Given the description of an element on the screen output the (x, y) to click on. 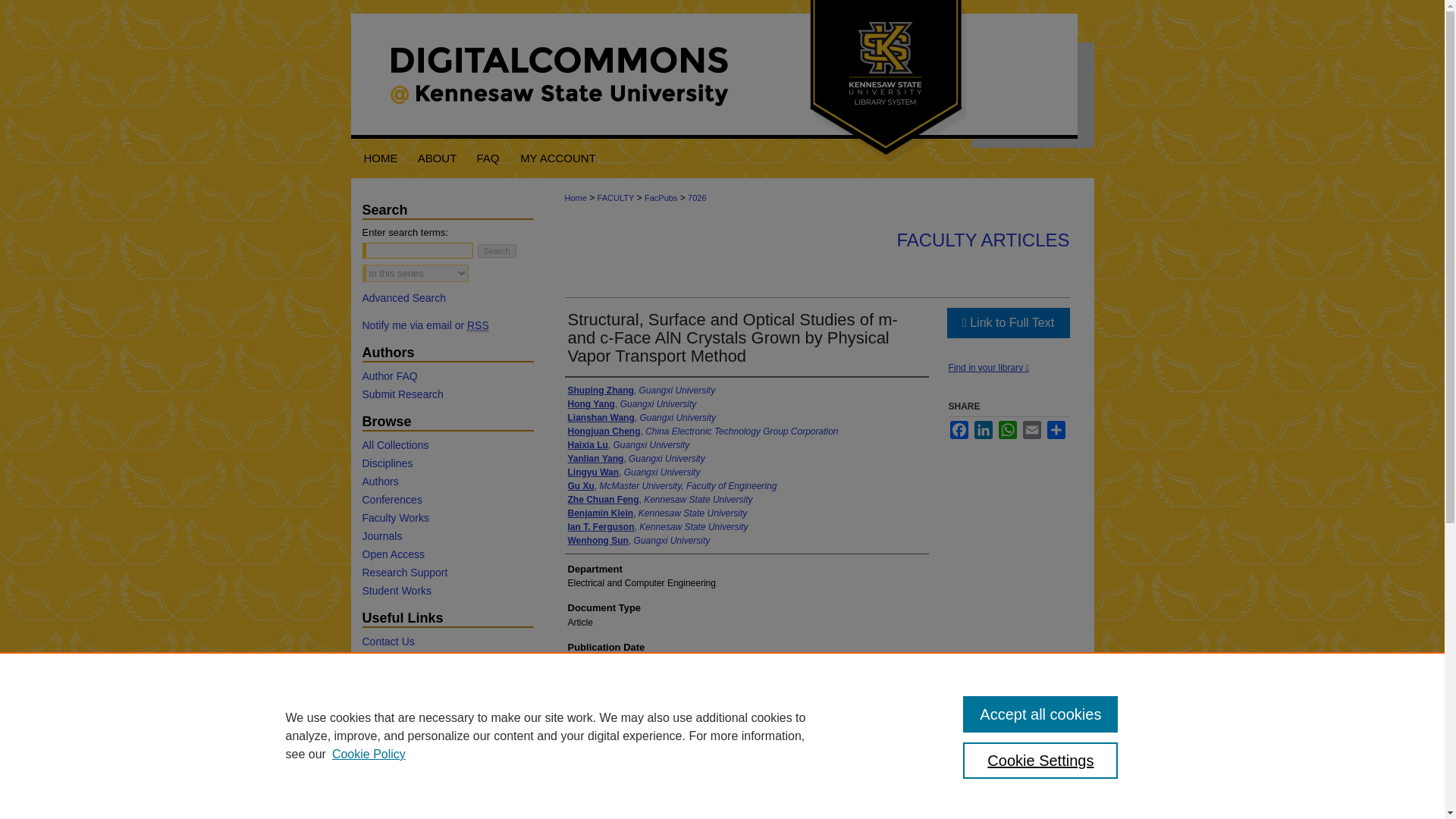
LinkedIn (982, 429)
My Account (558, 158)
Lianshan Wang, Guangxi University (641, 418)
About (437, 158)
Really Simple Syndication (478, 325)
Search (496, 250)
Home (378, 158)
Browse by All Collections (447, 444)
7026 (696, 197)
Lingyu Wan, Guangxi University (633, 472)
Share (1055, 429)
Ian T. Ferguson, Kennesaw State University (657, 526)
Gu Xu, McMaster University, Faculty of Engineering (671, 486)
Shuping Zhang, Guangxi University (640, 390)
